Given the description of an element on the screen output the (x, y) to click on. 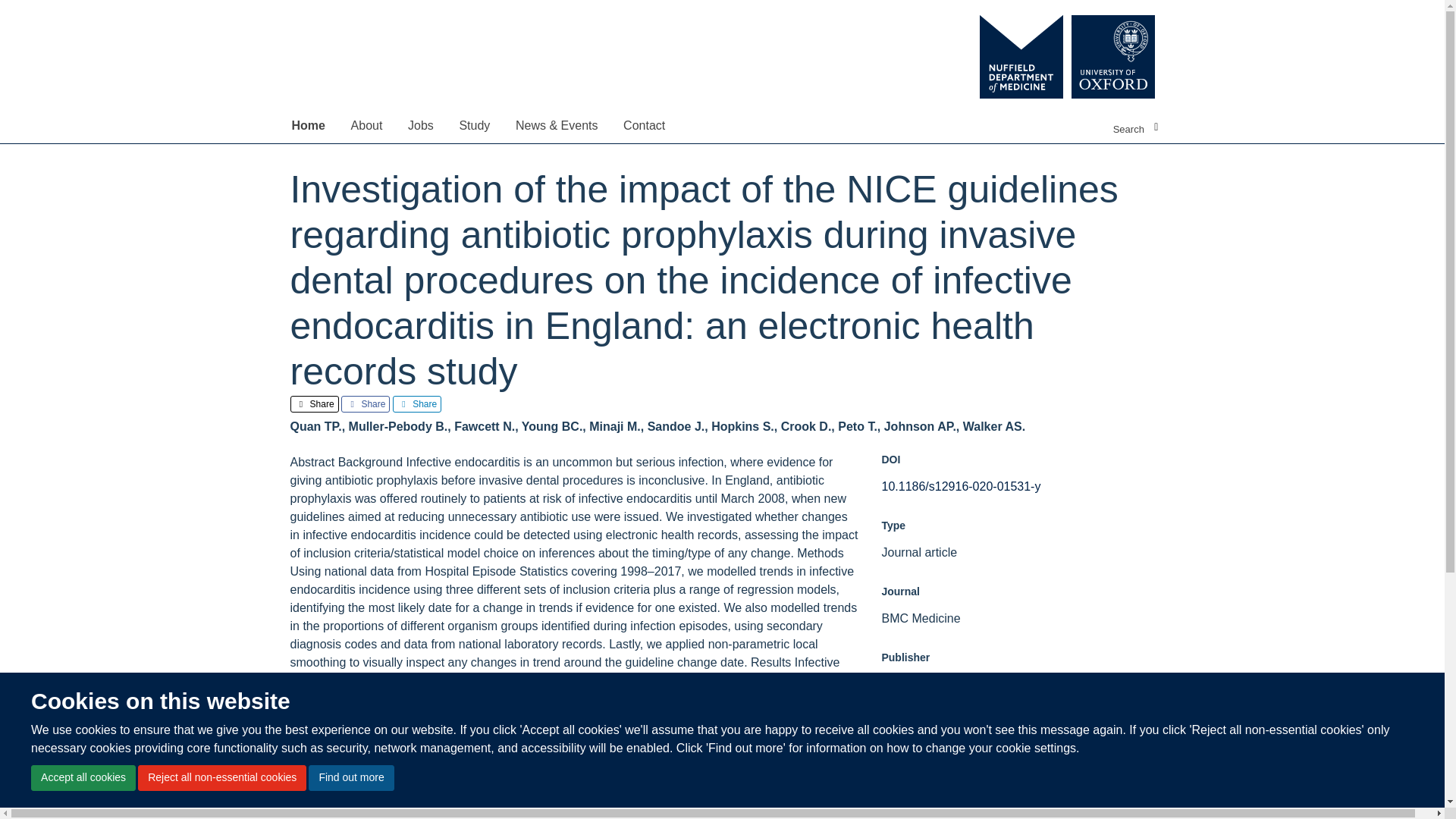
Accept all cookies (82, 777)
Reject all non-essential cookies (221, 777)
Find out more (350, 777)
